Given the description of an element on the screen output the (x, y) to click on. 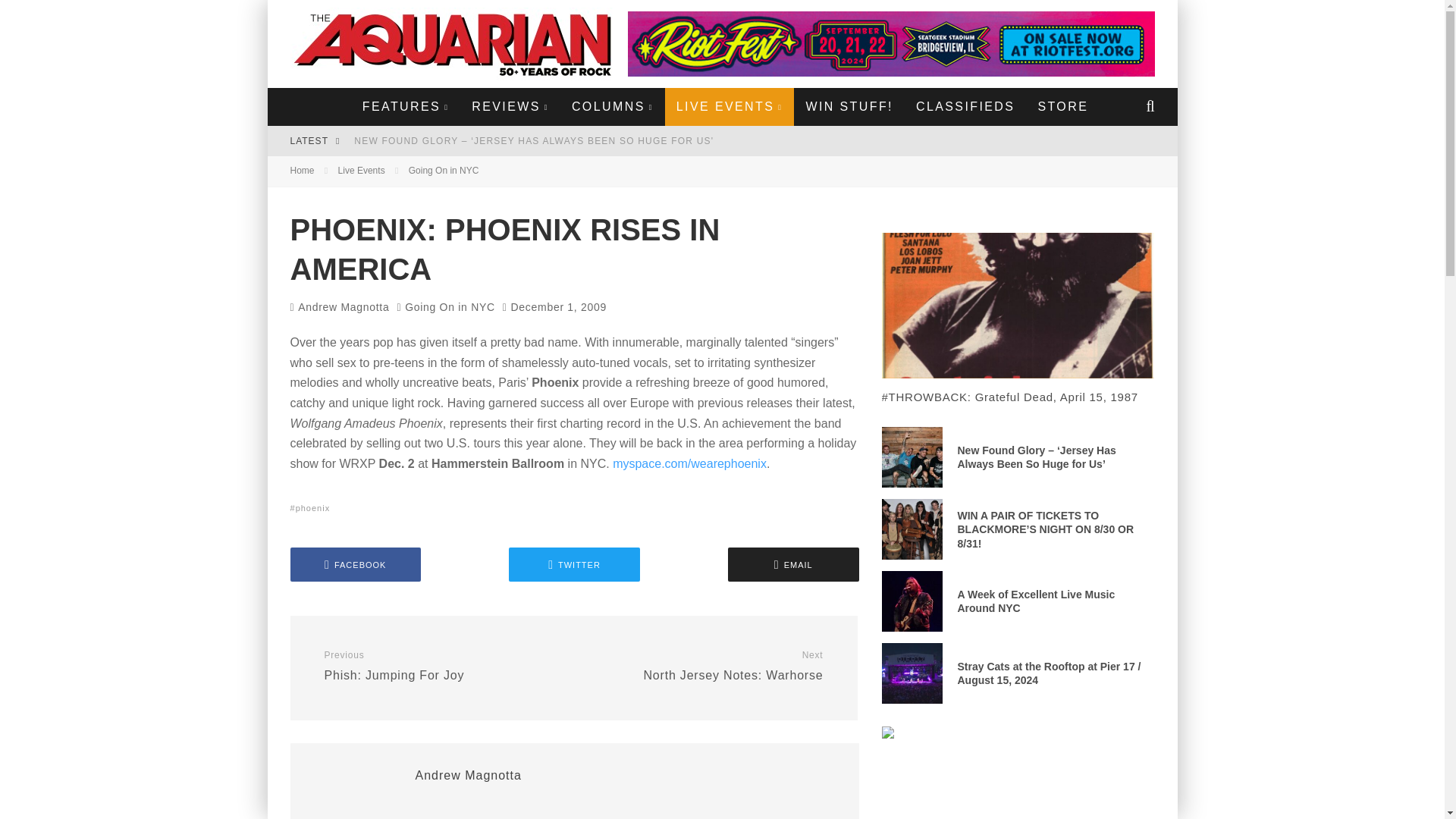
REVIEWS (510, 106)
FEATURES (405, 106)
COLUMNS (612, 106)
